Given the description of an element on the screen output the (x, y) to click on. 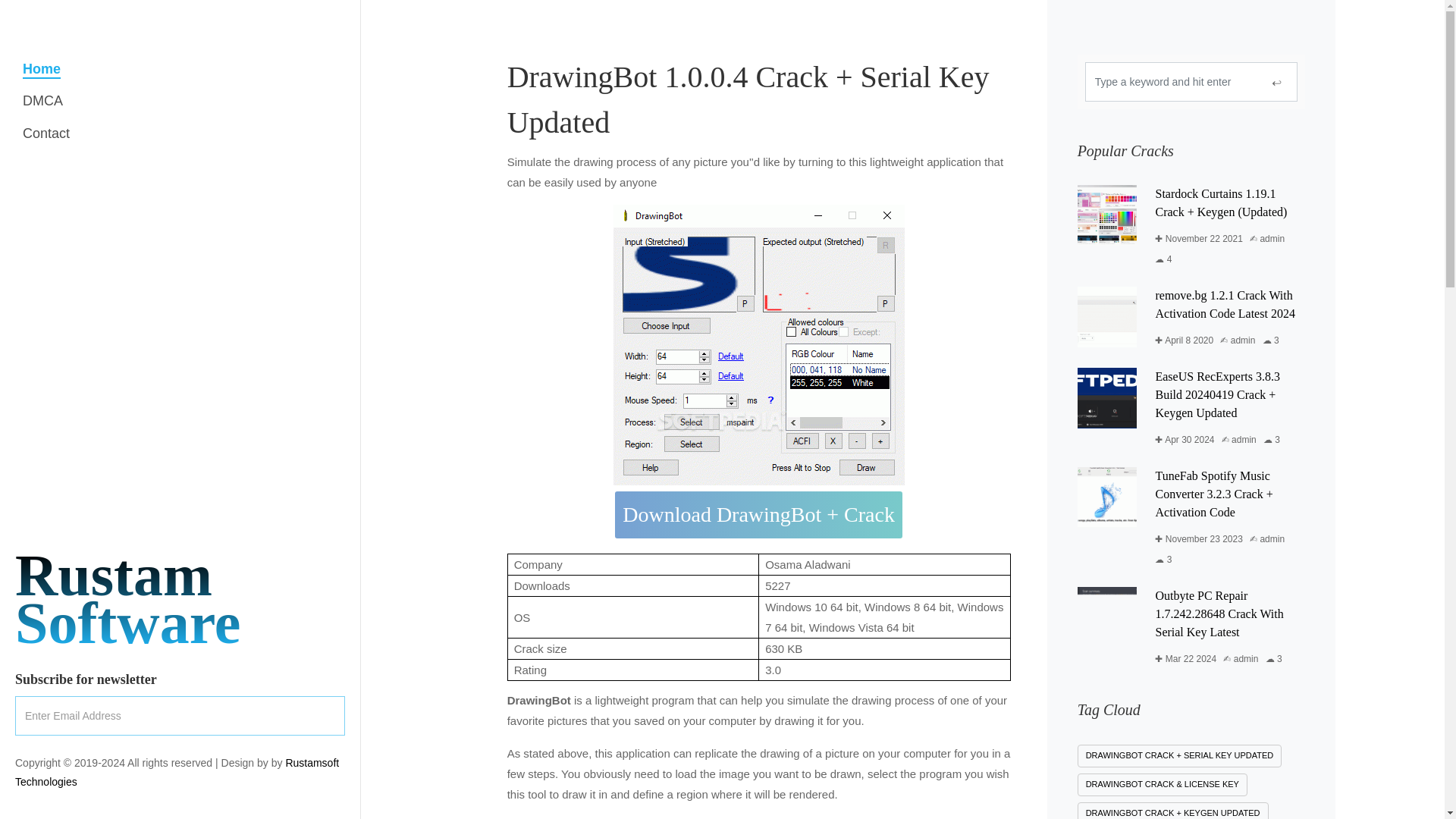
Contact (46, 132)
DMCA (42, 100)
Home (42, 69)
Outbyte PC Repair 1.7.242.28648 Crack With Serial Key Latest (1218, 613)
remove.bg 1.2.1 Crack With Activation Code Latest 2024 (1224, 304)
Rustamsoft Technologies (127, 599)
